Given the description of an element on the screen output the (x, y) to click on. 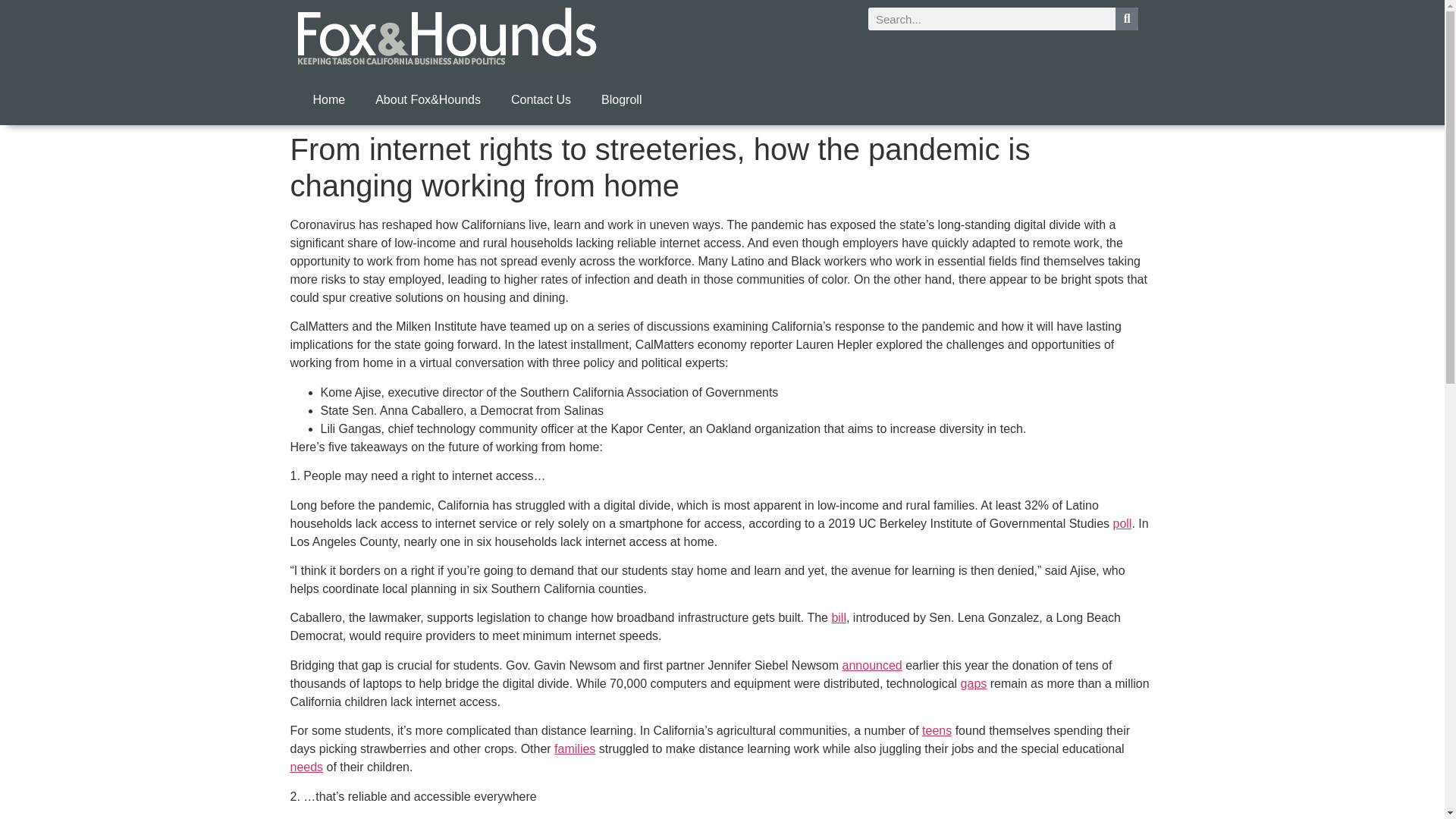
Blogroll (621, 99)
gaps (973, 683)
poll (1122, 522)
Home (328, 99)
bill (838, 617)
families (574, 748)
teens (936, 730)
Contact Us (541, 99)
announced (872, 665)
needs (306, 766)
